Given the description of an element on the screen output the (x, y) to click on. 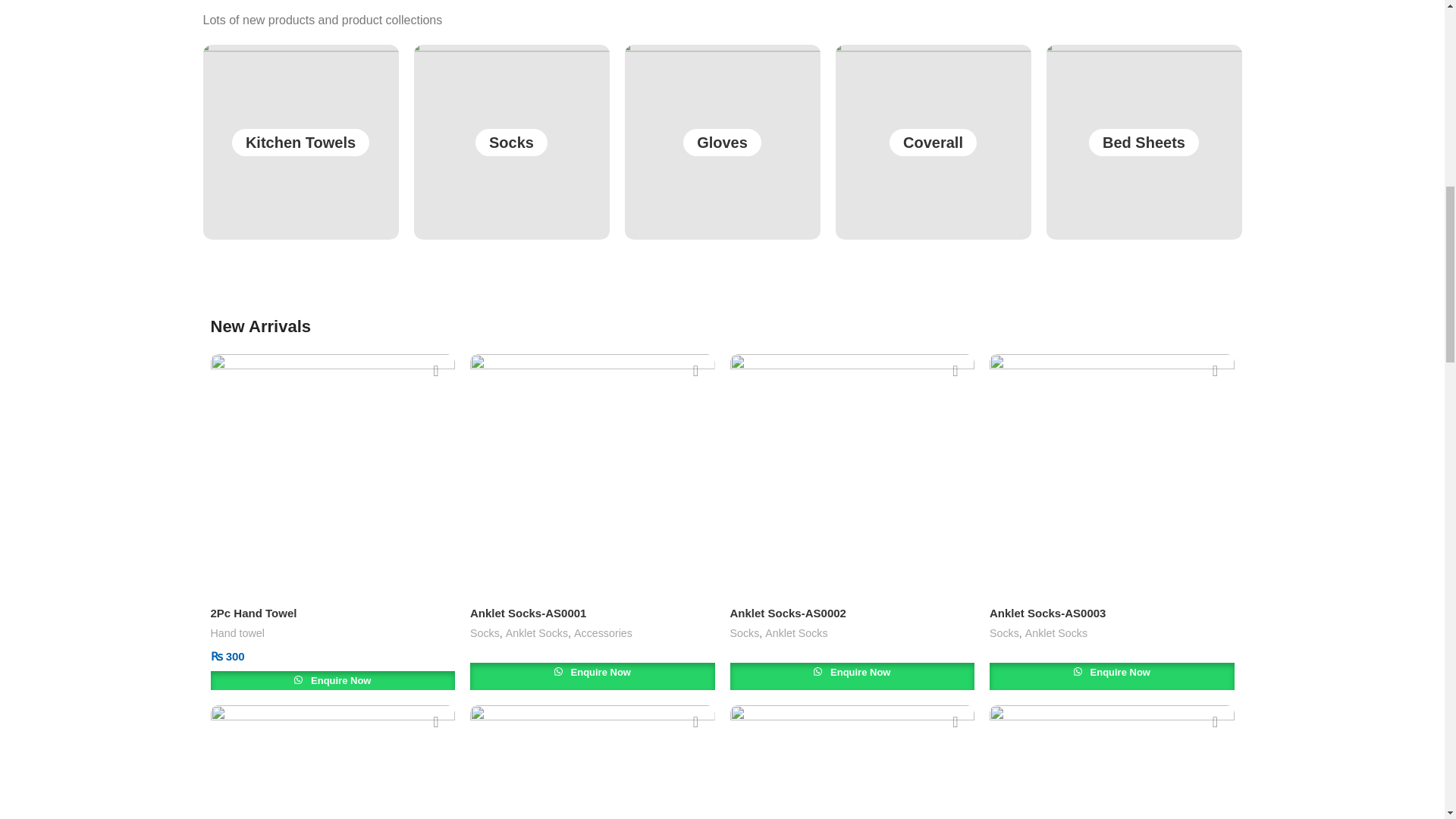
Complete order on WhatsApp to buy 2Pc Hand Towel (333, 684)
Complete order on WhatsApp to buy Anklet Socks-AS0003 (1112, 676)
Complete order on WhatsApp to buy Anklet Socks-AS0002 (851, 676)
Complete order on WhatsApp to buy Anklet Socks-AS0001 (592, 676)
